Given the description of an element on the screen output the (x, y) to click on. 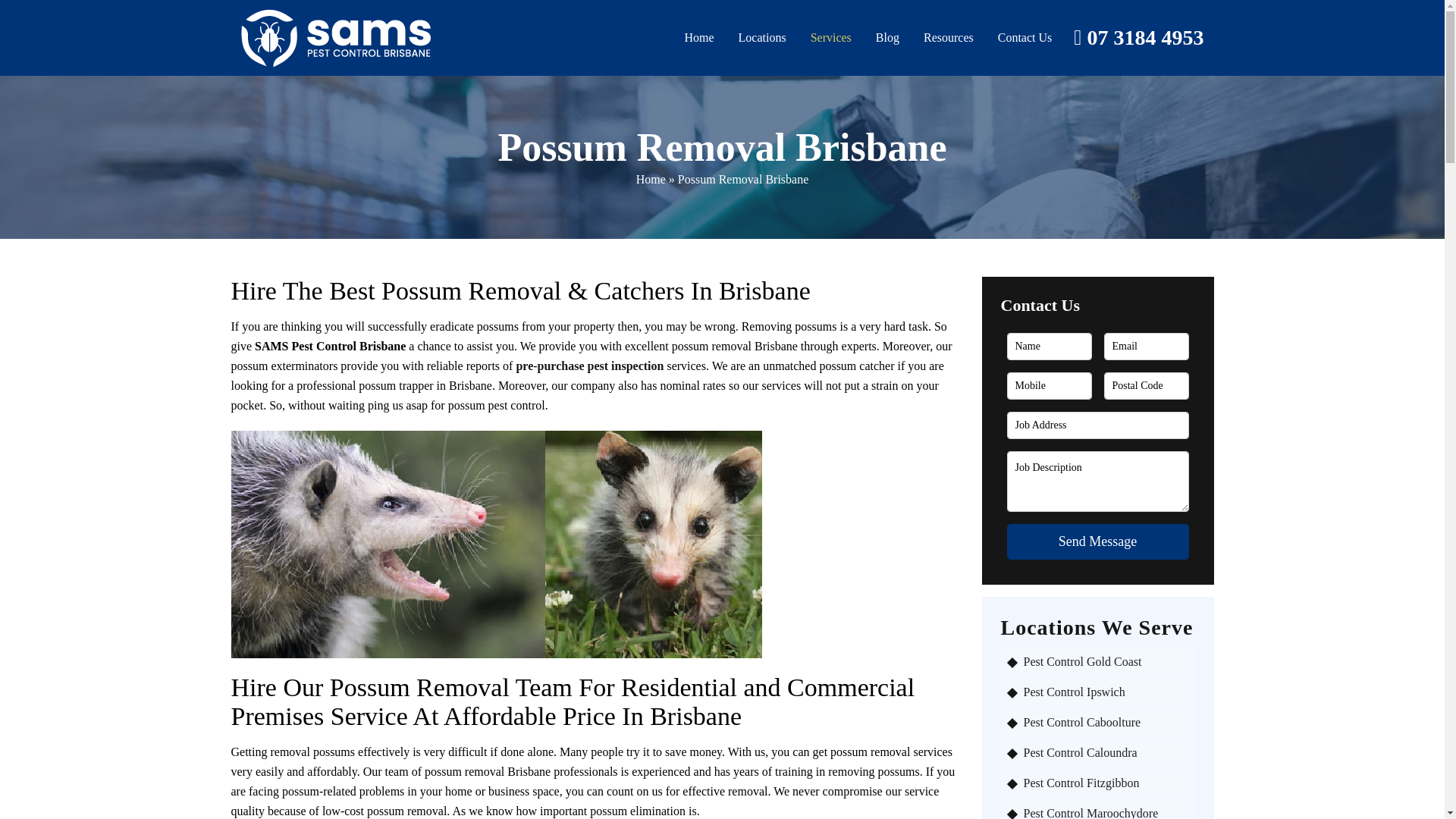
Blog (887, 37)
Send Message (1098, 541)
Locations (761, 37)
Resources (948, 37)
Home (698, 37)
07 3184 4953 (1138, 37)
Contact Us (1025, 37)
Services (831, 37)
